Given the description of an element on the screen output the (x, y) to click on. 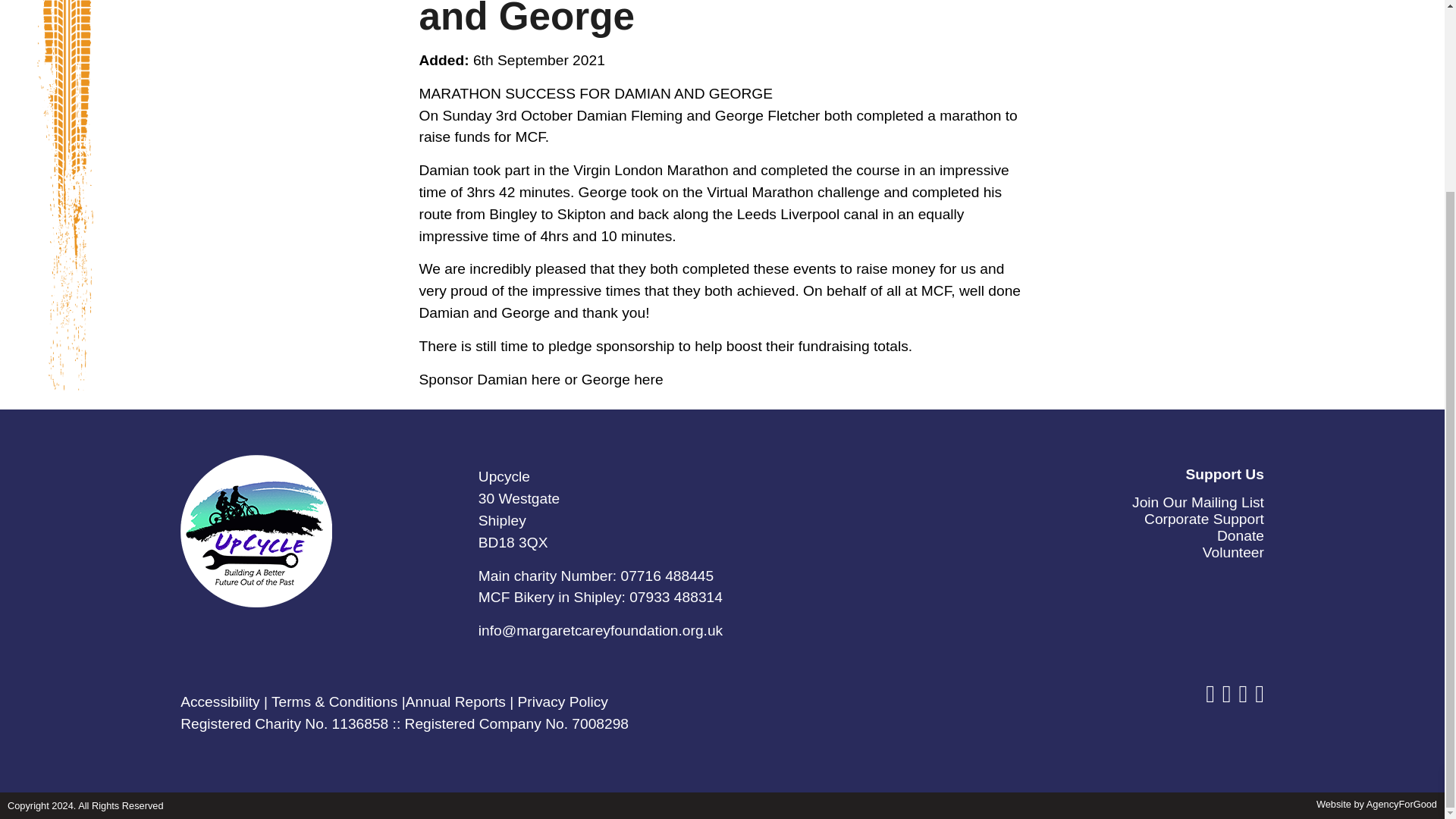
Join Our Mailing List (1197, 502)
Donate (1240, 535)
Charity Web Design (1376, 803)
Volunteer (1232, 552)
Accessibility (220, 701)
Annual Reports (455, 701)
Privacy Policy (563, 701)
Corporate Support (1203, 519)
